Given the description of an element on the screen output the (x, y) to click on. 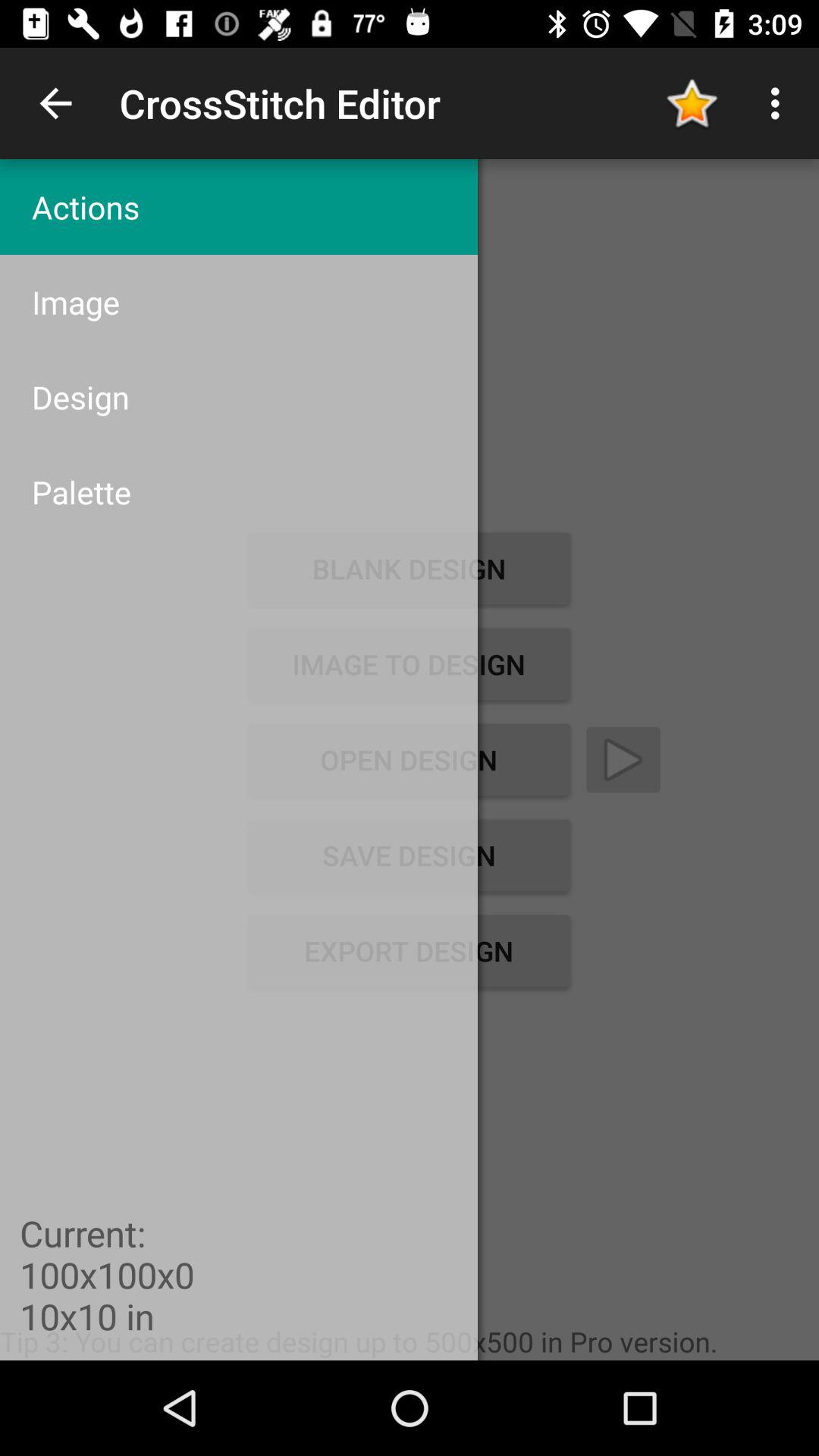
swipe until the palette item (238, 491)
